Given the description of an element on the screen output the (x, y) to click on. 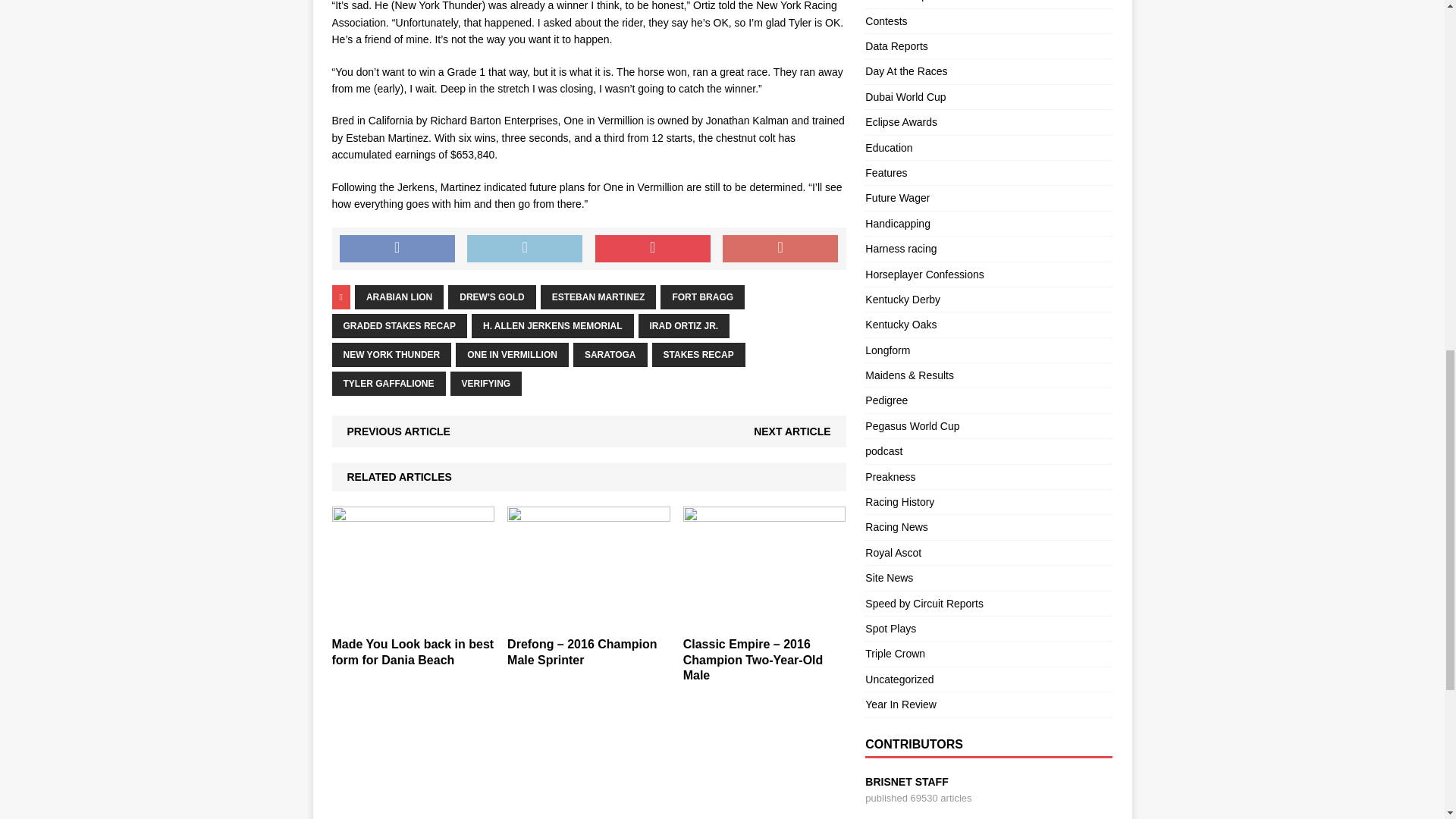
Tweet This Post (524, 248)
Share on Facebook (396, 248)
Pin This Post (652, 248)
Made You Look back in best form for Dania Beach (413, 620)
Made You Look back in best form for Dania Beach (413, 652)
